Given the description of an element on the screen output the (x, y) to click on. 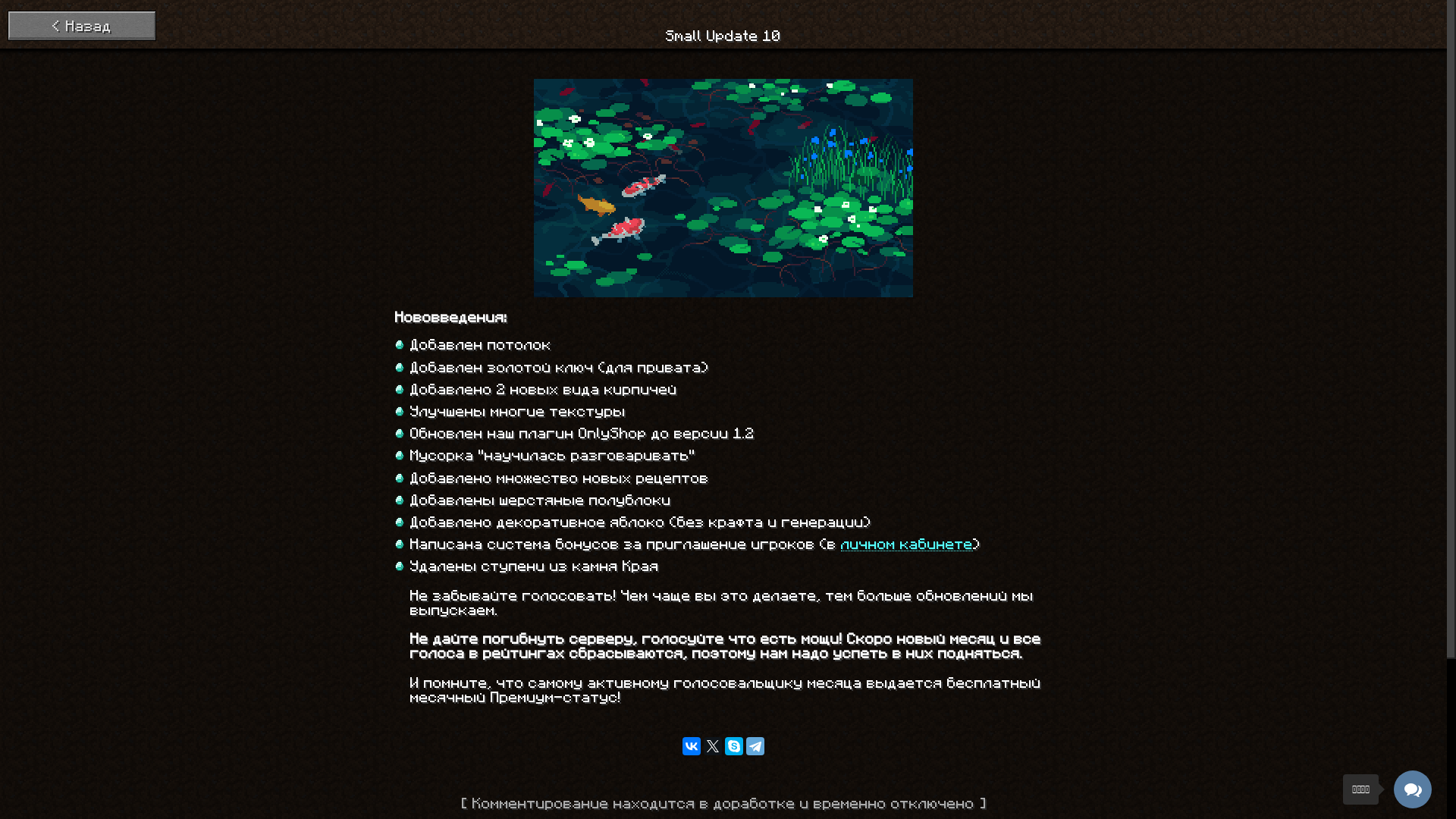
Twitter Element type: hover (712, 746)
Skype Element type: hover (733, 746)
Telegram Element type: hover (755, 746)
